Given the description of an element on the screen output the (x, y) to click on. 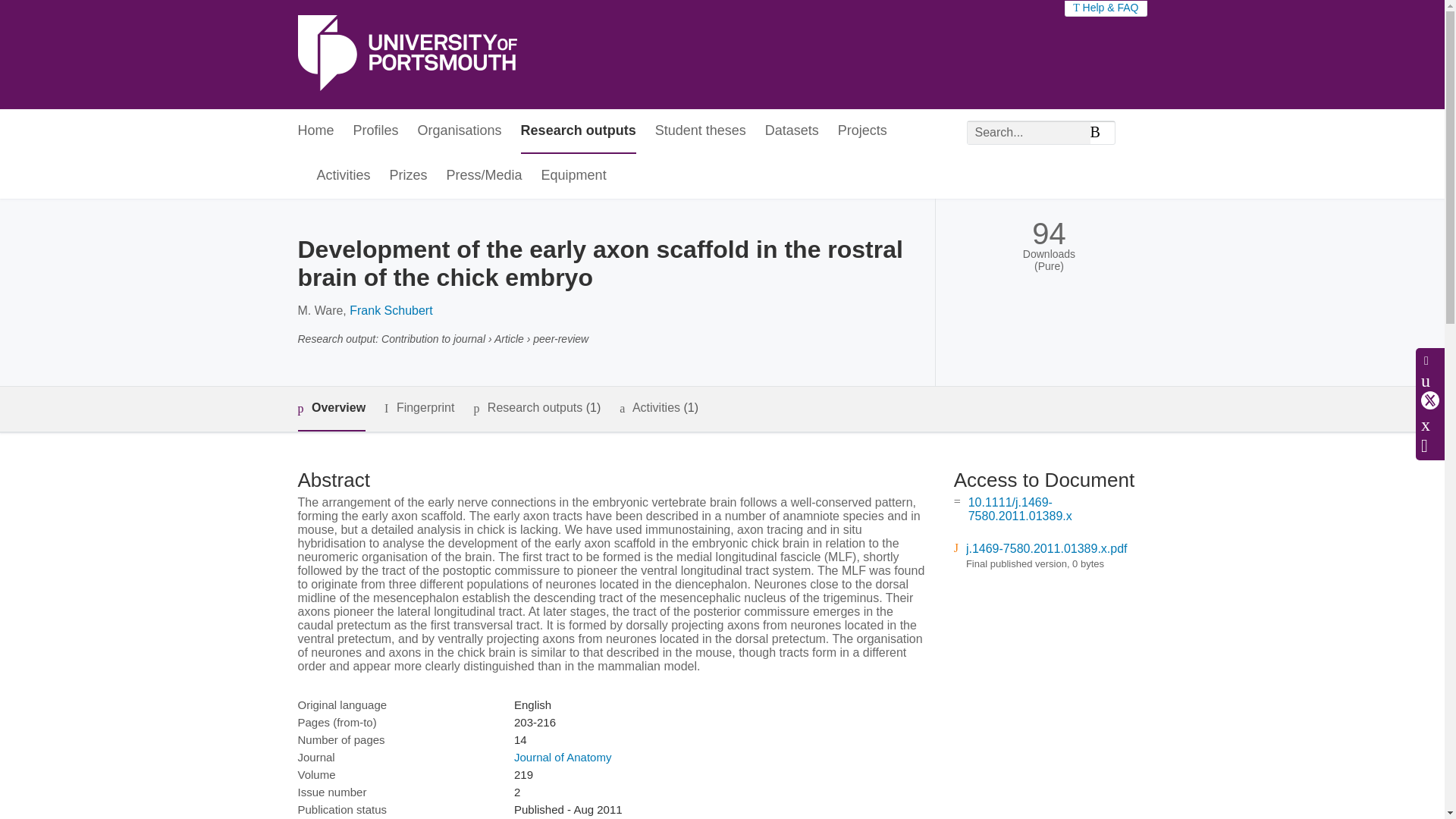
Fingerprint (419, 407)
University of Portsmouth Home (406, 54)
Profiles (375, 130)
Projects (862, 130)
Equipment (574, 176)
j.1469-7580.2011.01389.x.pdf (1046, 548)
Student theses (700, 130)
Overview (331, 408)
Activities (344, 176)
